Given the description of an element on the screen output the (x, y) to click on. 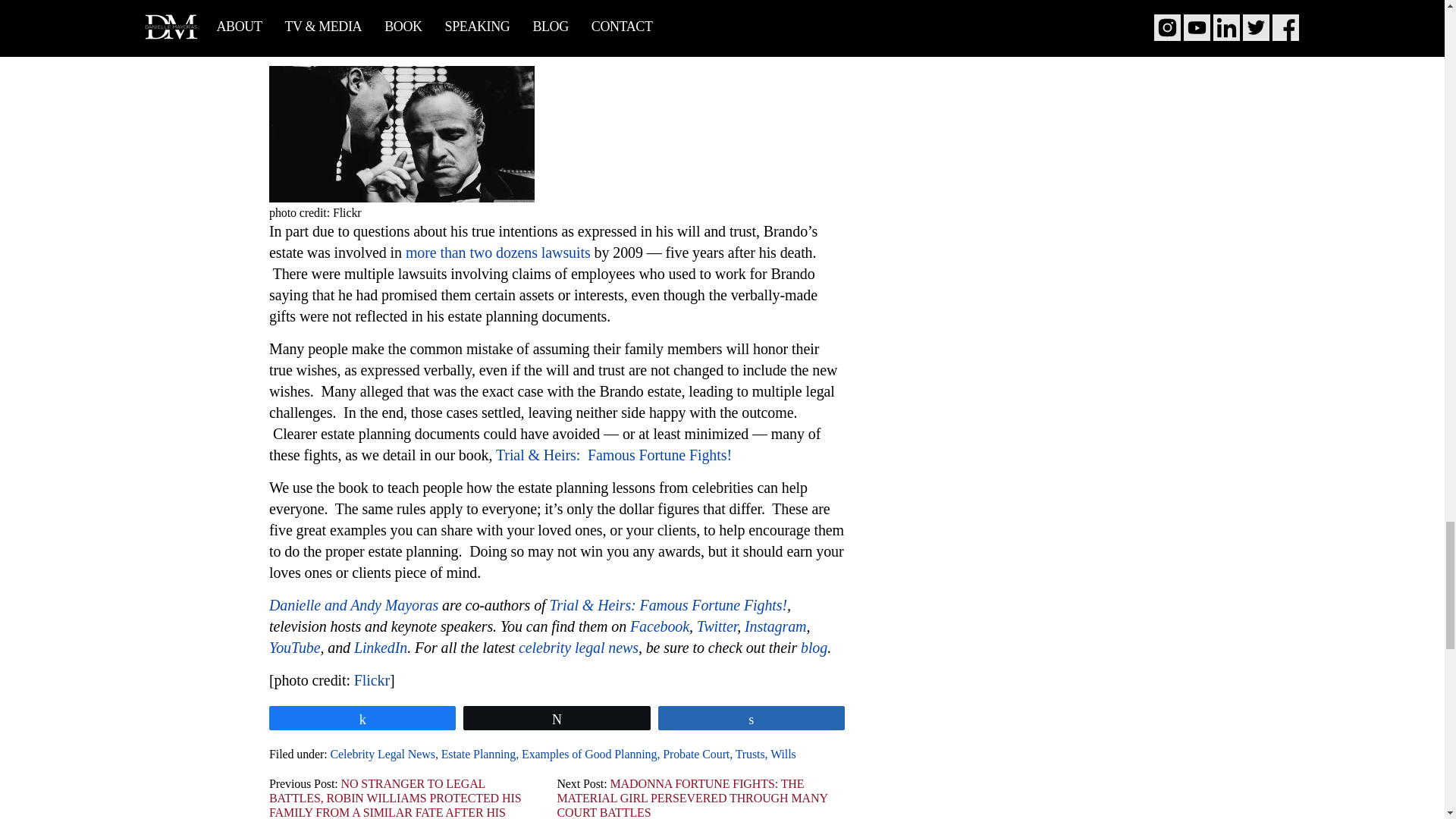
Facebook (659, 626)
LinkedIn (380, 647)
Twitter (716, 626)
blog (813, 647)
celebrity legal news (578, 647)
Danielle and Andy Mayoras (353, 605)
more than two dozens lawsuits (498, 252)
YouTube (294, 647)
rejected the award (433, 22)
Instagram (775, 626)
Flickr (371, 679)
